Given the description of an element on the screen output the (x, y) to click on. 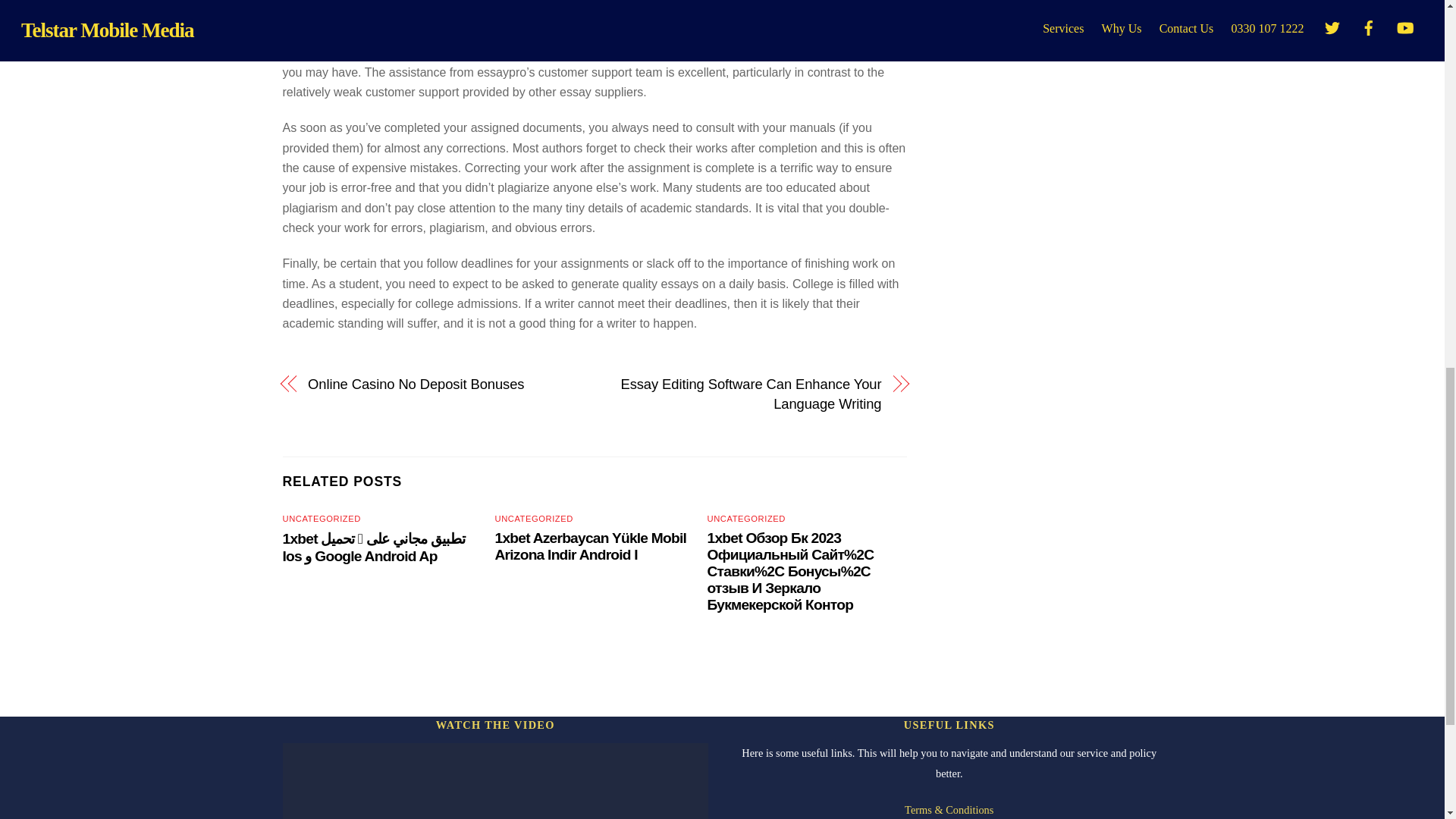
Essay Editing Software Can Enhance Your Language Writing (746, 394)
UNCATEGORIZED (320, 518)
UNCATEGORIZED (534, 518)
Online Casino No Deposit Bonuses (441, 383)
UNCATEGORIZED (746, 518)
paragraph counter online (680, 11)
